Given the description of an element on the screen output the (x, y) to click on. 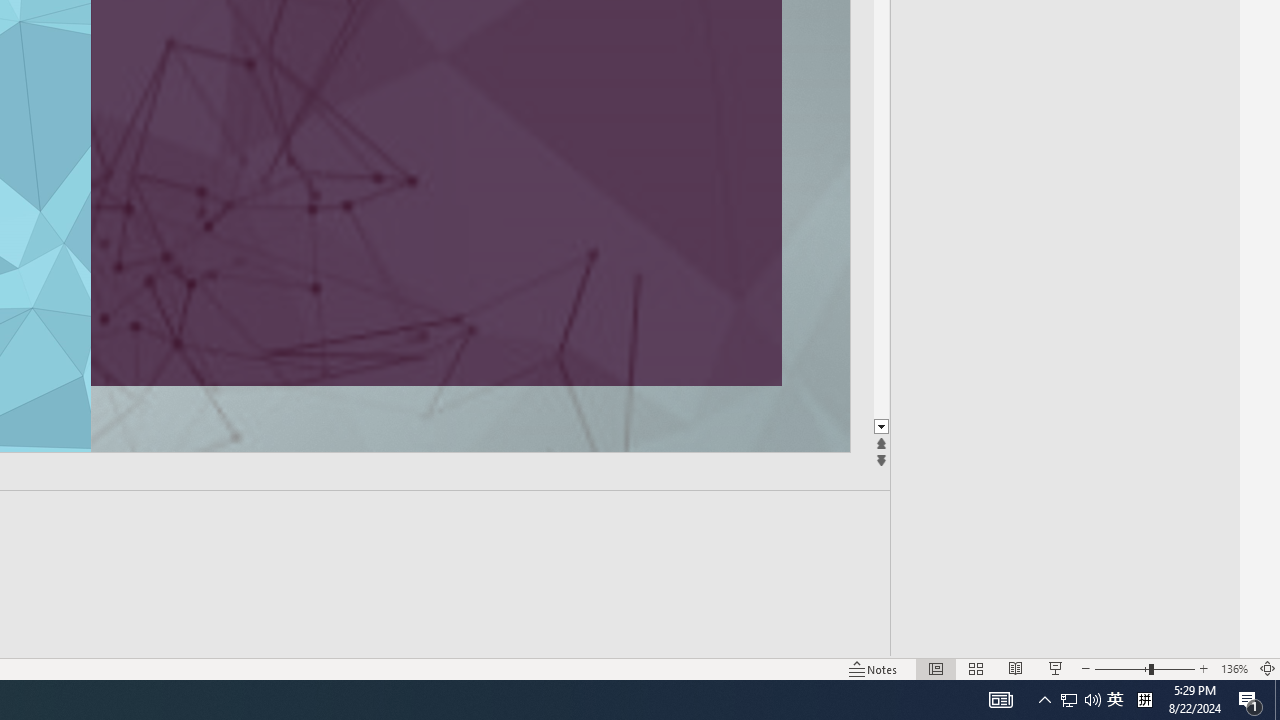
Zoom 136% (1234, 668)
